Given the description of an element on the screen output the (x, y) to click on. 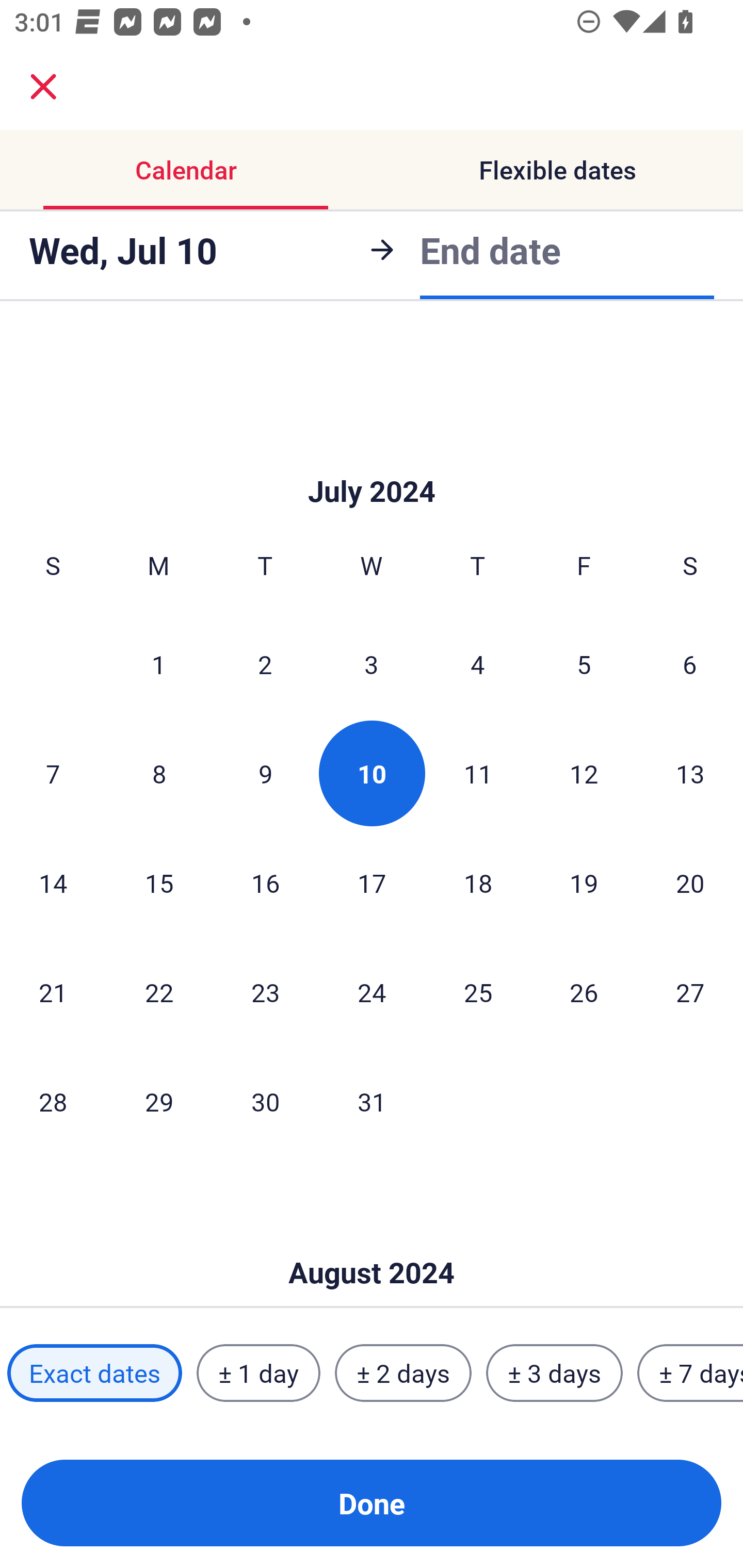
close. (43, 86)
Flexible dates (557, 170)
End date (489, 249)
Skip to Done (371, 460)
1 Monday, July 1, 2024 (158, 663)
2 Tuesday, July 2, 2024 (264, 663)
3 Wednesday, July 3, 2024 (371, 663)
4 Thursday, July 4, 2024 (477, 663)
5 Friday, July 5, 2024 (583, 663)
6 Saturday, July 6, 2024 (689, 663)
7 Sunday, July 7, 2024 (53, 773)
8 Monday, July 8, 2024 (159, 773)
9 Tuesday, July 9, 2024 (265, 773)
11 Thursday, July 11, 2024 (477, 773)
12 Friday, July 12, 2024 (584, 773)
13 Saturday, July 13, 2024 (690, 773)
14 Sunday, July 14, 2024 (53, 882)
15 Monday, July 15, 2024 (159, 882)
16 Tuesday, July 16, 2024 (265, 882)
17 Wednesday, July 17, 2024 (371, 882)
18 Thursday, July 18, 2024 (477, 882)
19 Friday, July 19, 2024 (584, 882)
20 Saturday, July 20, 2024 (690, 882)
21 Sunday, July 21, 2024 (53, 991)
22 Monday, July 22, 2024 (159, 991)
23 Tuesday, July 23, 2024 (265, 991)
24 Wednesday, July 24, 2024 (371, 991)
25 Thursday, July 25, 2024 (477, 991)
26 Friday, July 26, 2024 (584, 991)
27 Saturday, July 27, 2024 (690, 991)
28 Sunday, July 28, 2024 (53, 1101)
29 Monday, July 29, 2024 (159, 1101)
30 Tuesday, July 30, 2024 (265, 1101)
31 Wednesday, July 31, 2024 (371, 1101)
Skip to Done (371, 1241)
Exact dates (94, 1372)
± 1 day (258, 1372)
± 2 days (403, 1372)
± 3 days (553, 1372)
± 7 days (690, 1372)
Done (371, 1502)
